Given the description of an element on the screen output the (x, y) to click on. 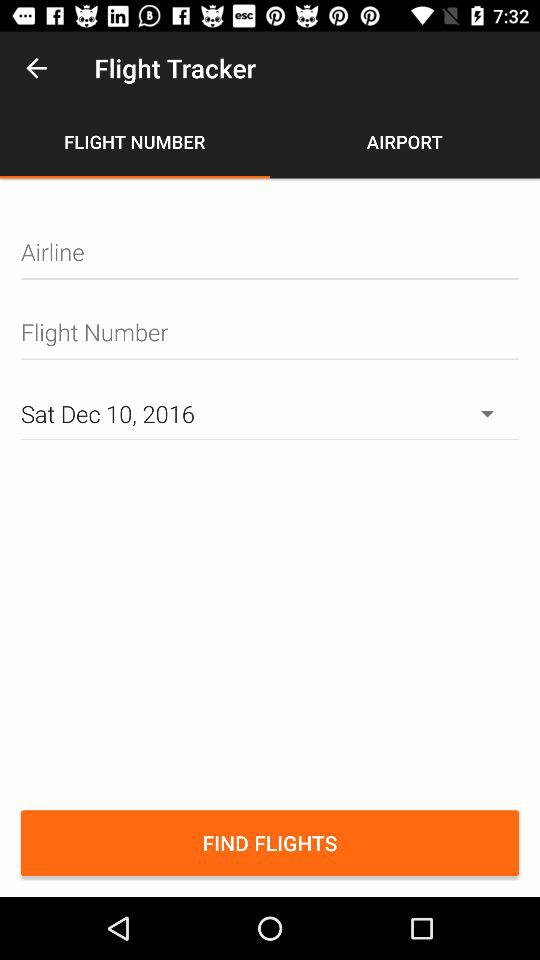
type flight number (270, 332)
